Given the description of an element on the screen output the (x, y) to click on. 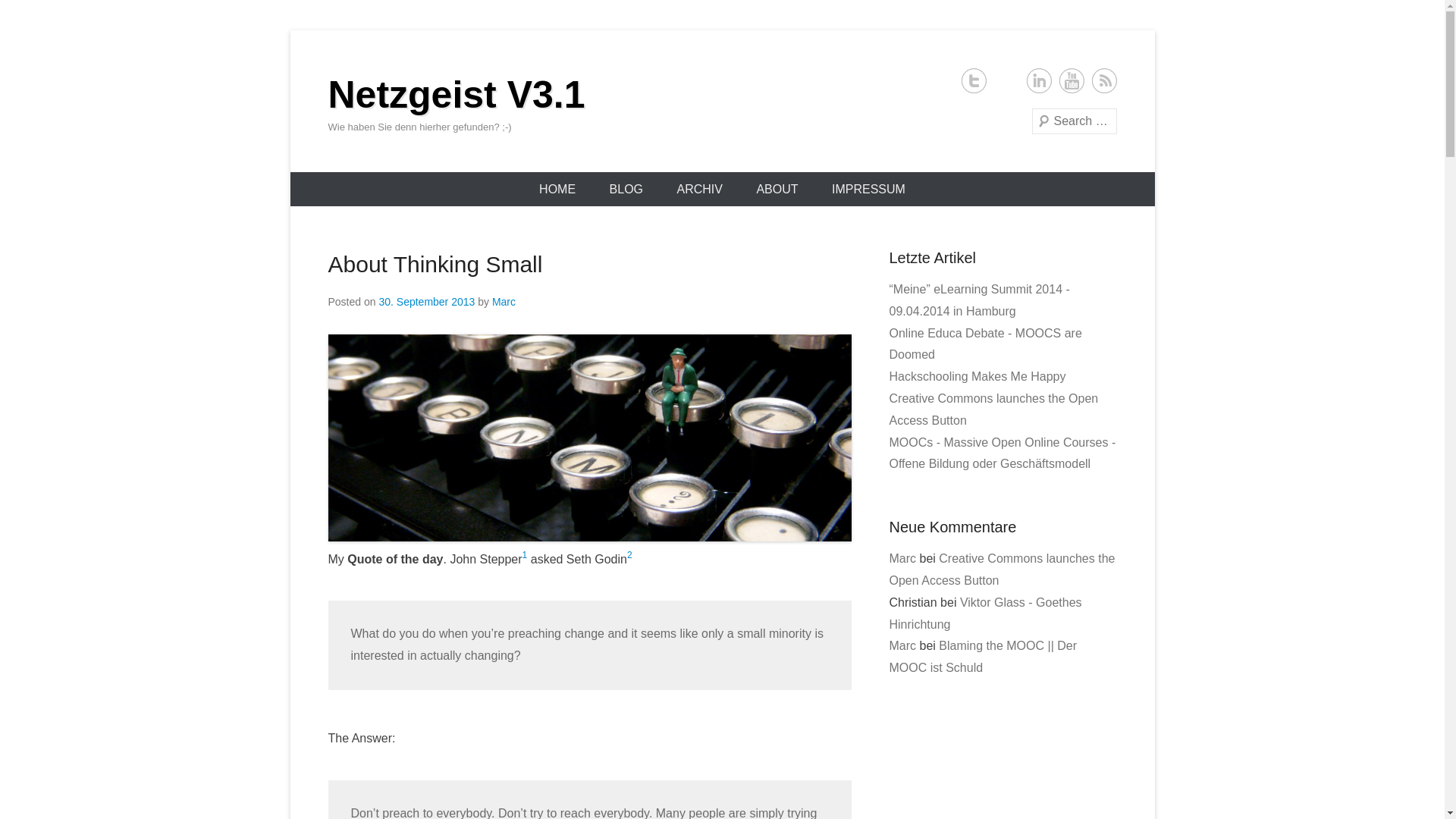
30. September 2013 (426, 301)
Netzgeist V3.1 on RSS (1104, 80)
Viktor Glass - Goethes Hinrichtung (984, 613)
Search (32, 15)
Marc (901, 645)
Online Educa Debate - MOOCS are Doomed (984, 343)
ARCHIV (698, 188)
Hackschooling Makes Me Happy (976, 376)
2 (629, 554)
View all posts by Marc (503, 301)
Netzgeist V3.1 YouTube (1070, 80)
Skip to content (329, 182)
Netzgeist V3.1 (456, 94)
IMPRESSUM (868, 188)
Hackschooling Makes Me Happy (976, 376)
